Given the description of an element on the screen output the (x, y) to click on. 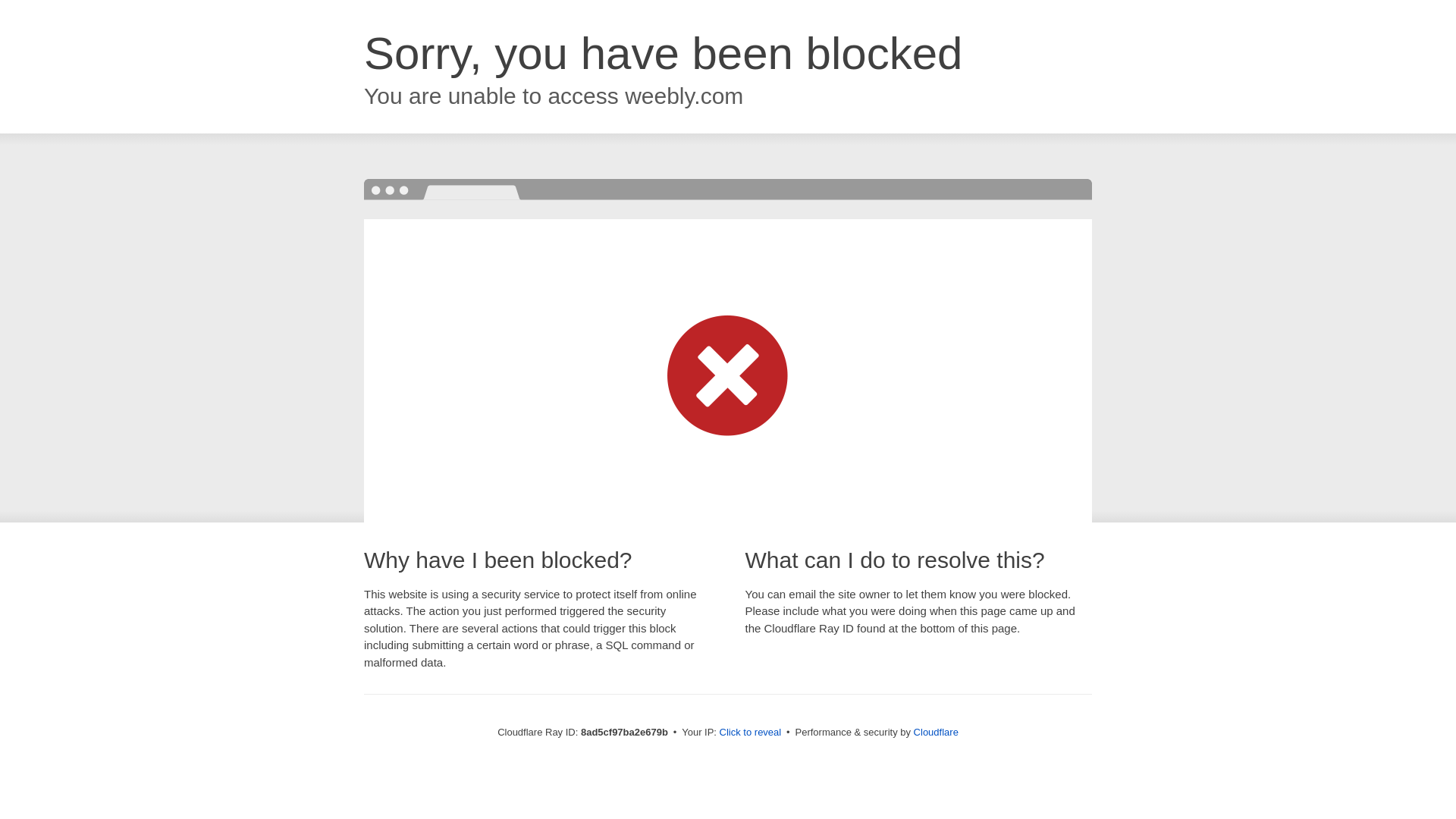
Click to reveal (750, 732)
Cloudflare (936, 731)
